Given the description of an element on the screen output the (x, y) to click on. 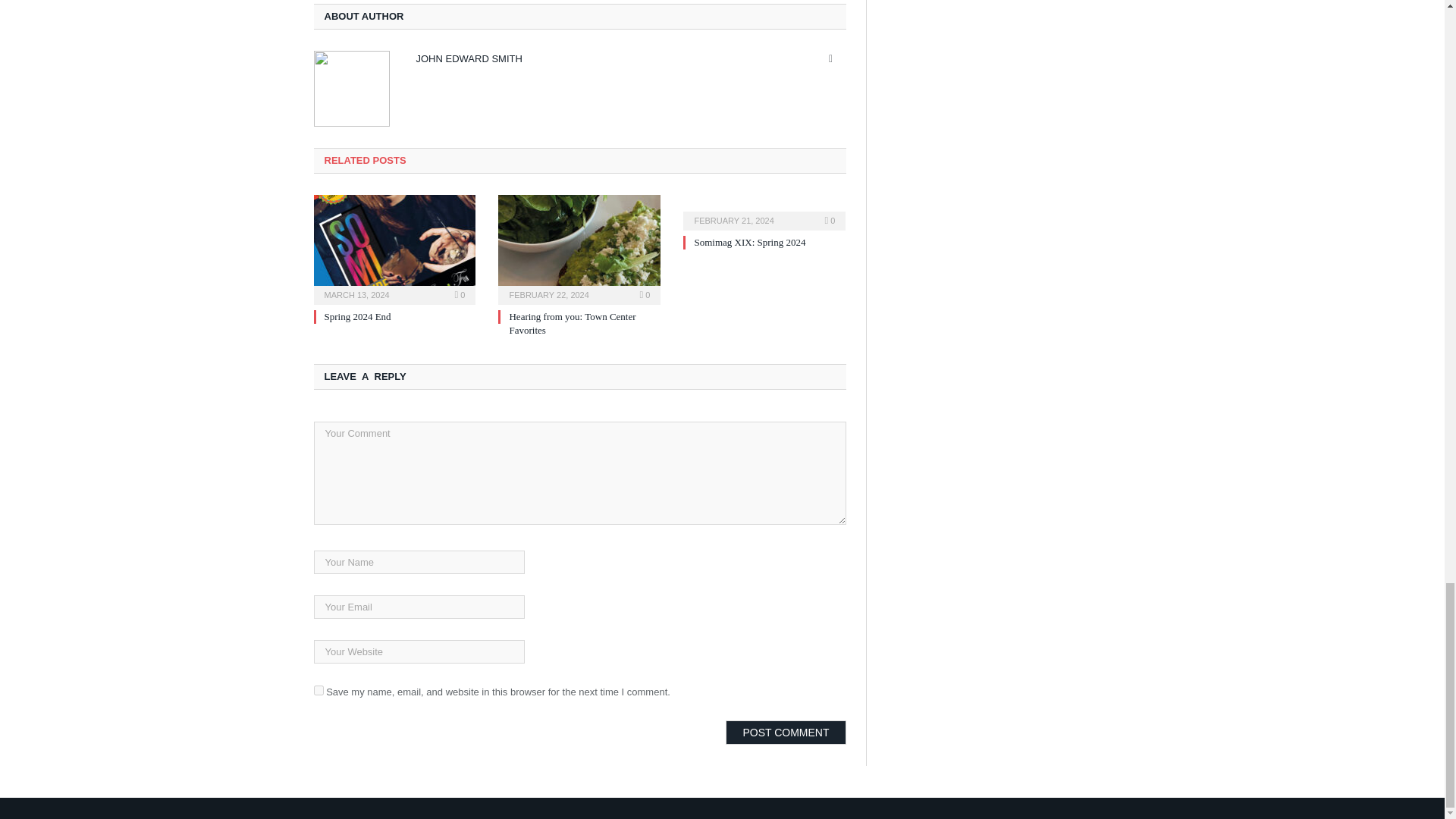
Hearing from you: Town Center Favorites (579, 247)
Spring 2024 End (357, 316)
yes (318, 690)
Posts by John Edward Smith (467, 58)
Spring 2024 End (395, 247)
Post Comment (785, 732)
Website (831, 58)
